Given the description of an element on the screen output the (x, y) to click on. 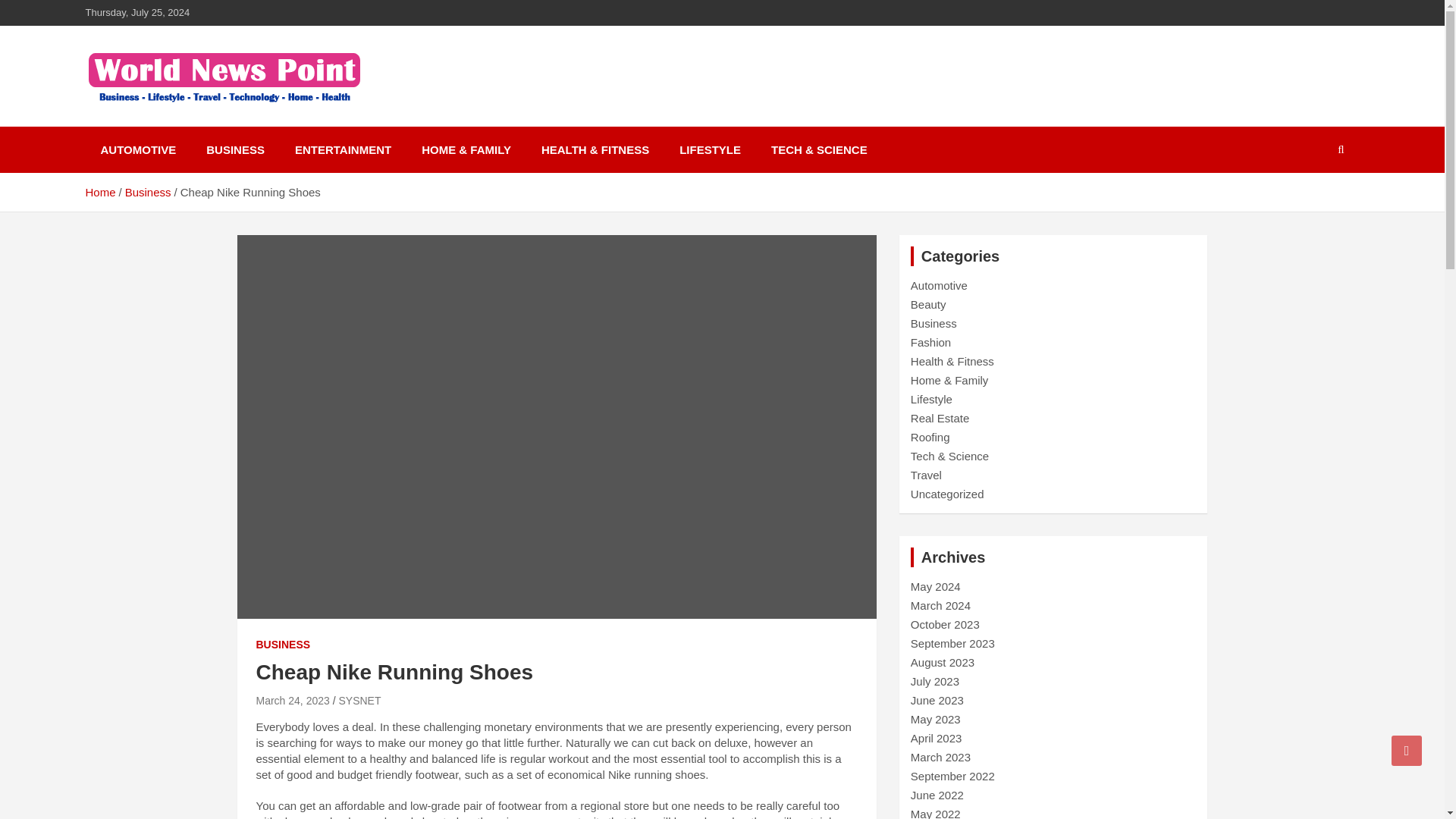
Go to Top (1406, 750)
Roofing (930, 436)
World News Point (213, 123)
Beauty (928, 304)
AUTOMOTIVE (137, 149)
Business (933, 323)
Fashion (930, 341)
Automotive (939, 285)
SYSNET (358, 700)
May 2024 (935, 585)
ENTERTAINMENT (342, 149)
LIFESTYLE (709, 149)
Travel (926, 474)
October 2023 (945, 624)
Uncategorized (947, 493)
